Given the description of an element on the screen output the (x, y) to click on. 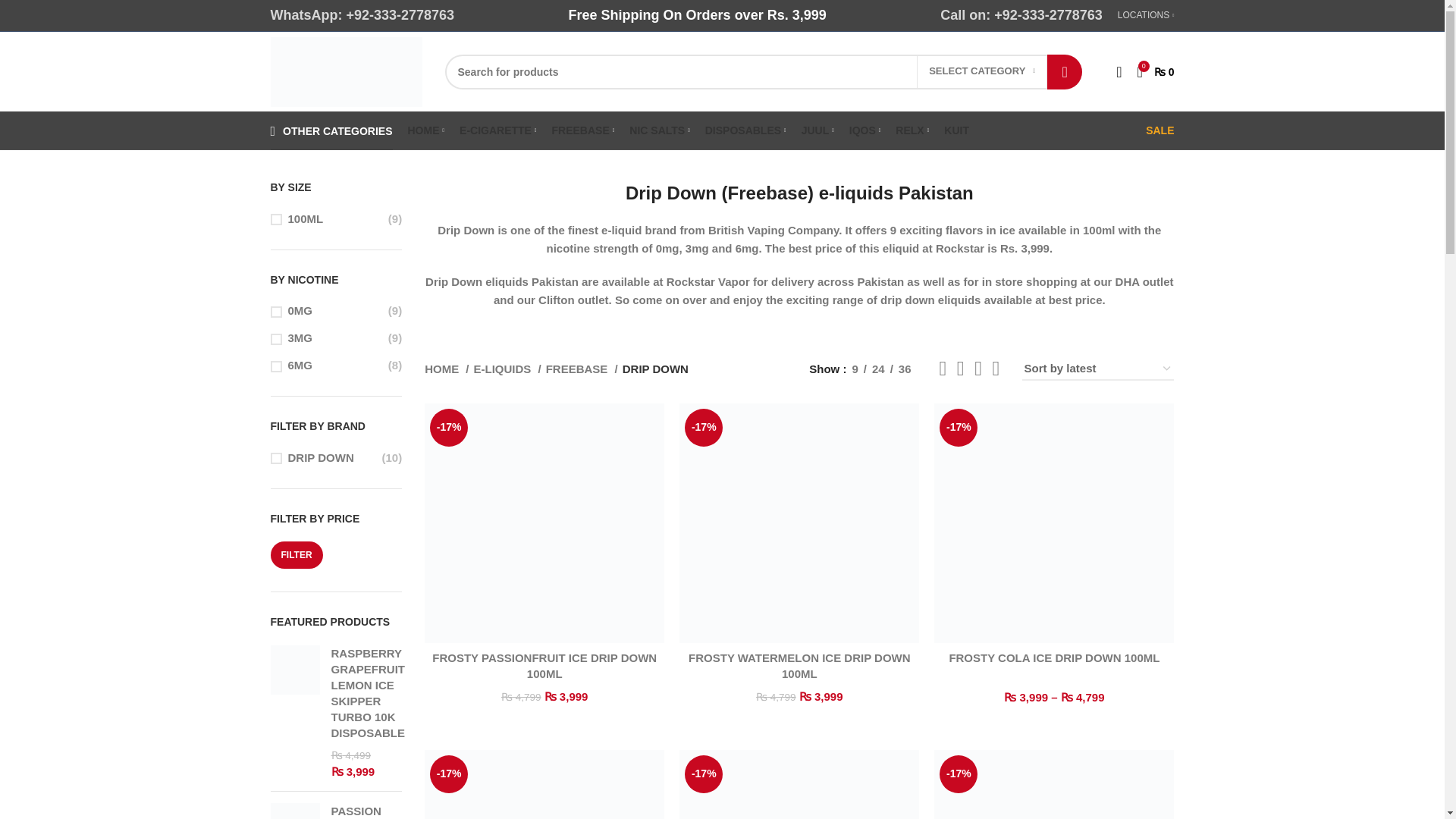
SELECT CATEGORY (981, 71)
Search for products (762, 71)
Shopping cart (1155, 71)
LOCATIONS (1146, 15)
SELECT CATEGORY (981, 71)
